Given the description of an element on the screen output the (x, y) to click on. 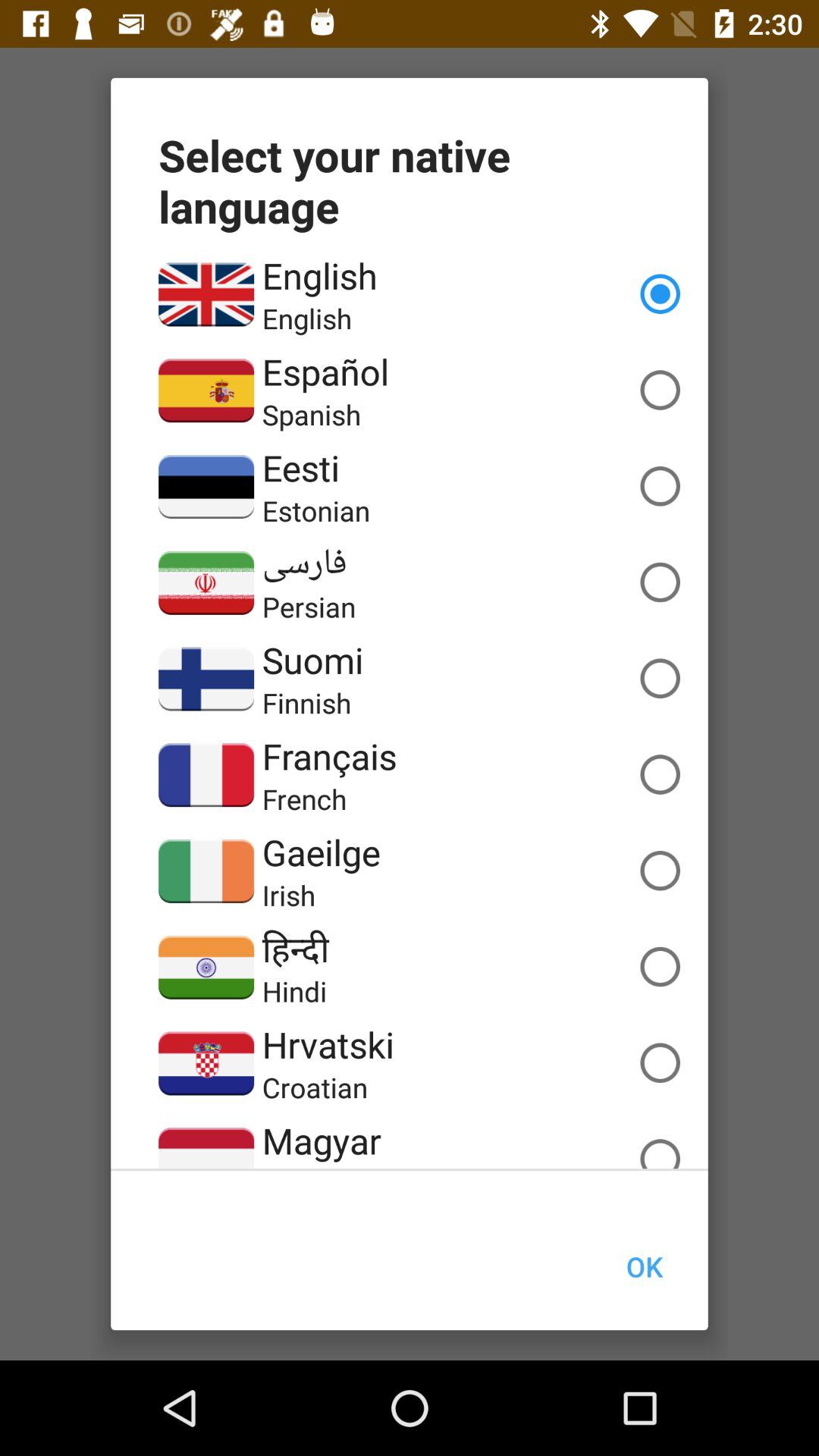
choose the hungarian item (326, 1166)
